Given the description of an element on the screen output the (x, y) to click on. 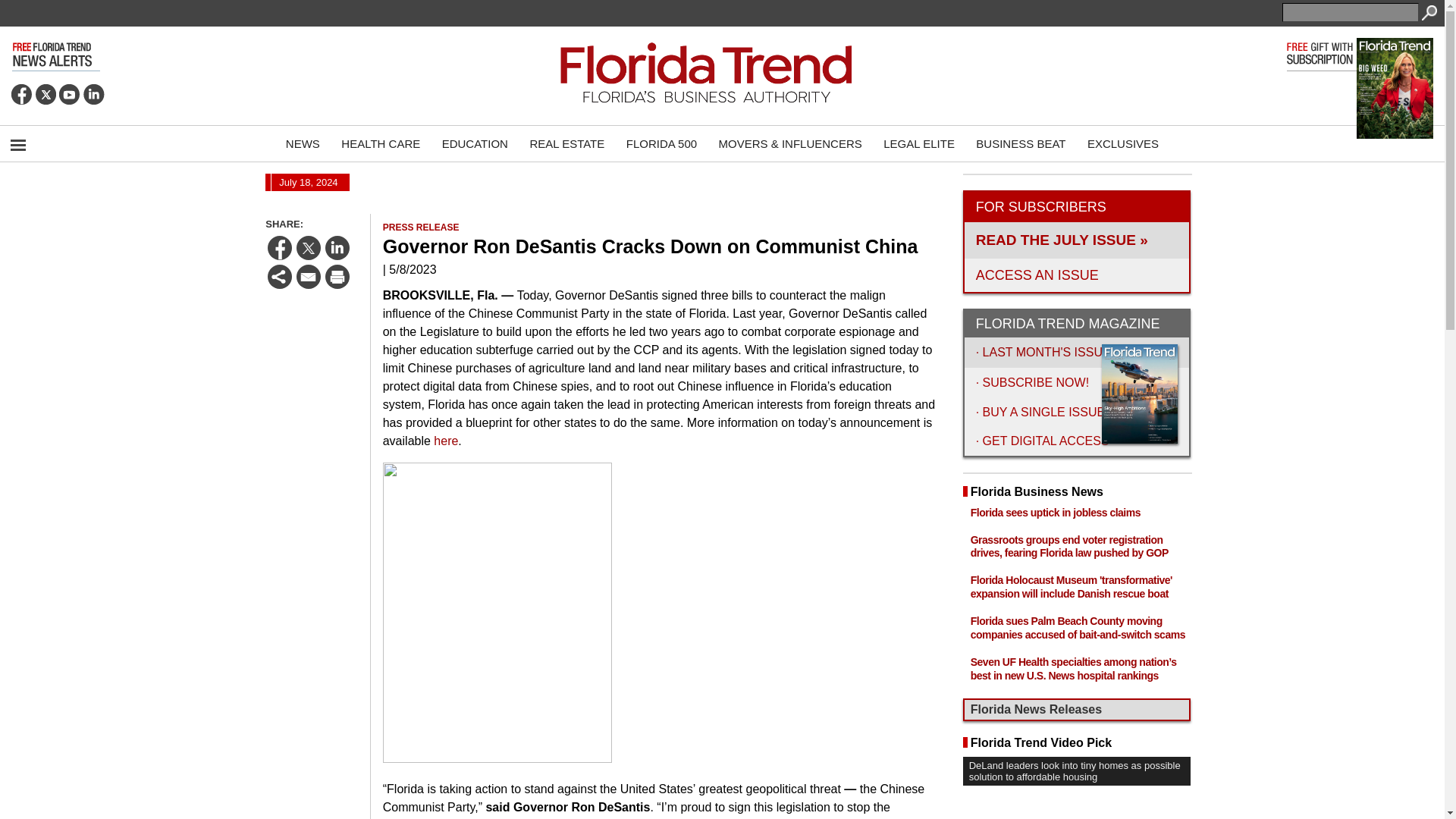
REAL ESTATE (565, 143)
HEALTH CARE (380, 143)
LEGAL ELITE (919, 143)
LinkedIn (93, 94)
NEWS (302, 143)
YouTube (69, 94)
BUSINESS BEAT (1020, 143)
Twitter (45, 94)
EDUCATION (474, 143)
FLORIDA 500 (661, 143)
Facebook (21, 94)
EXCLUSIVES (1122, 143)
